Given the description of an element on the screen output the (x, y) to click on. 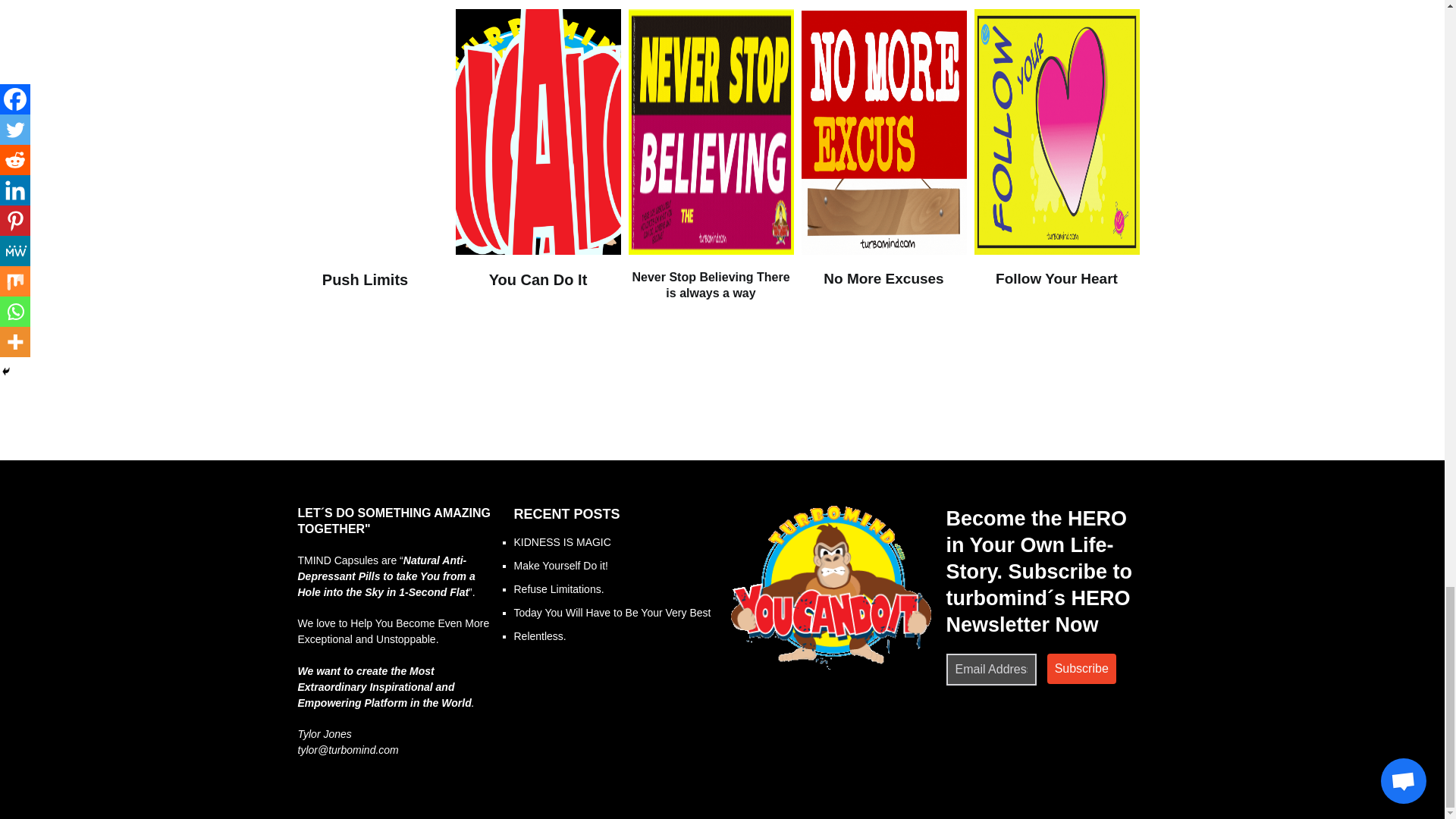
Subscribe (1081, 668)
